Given the description of an element on the screen output the (x, y) to click on. 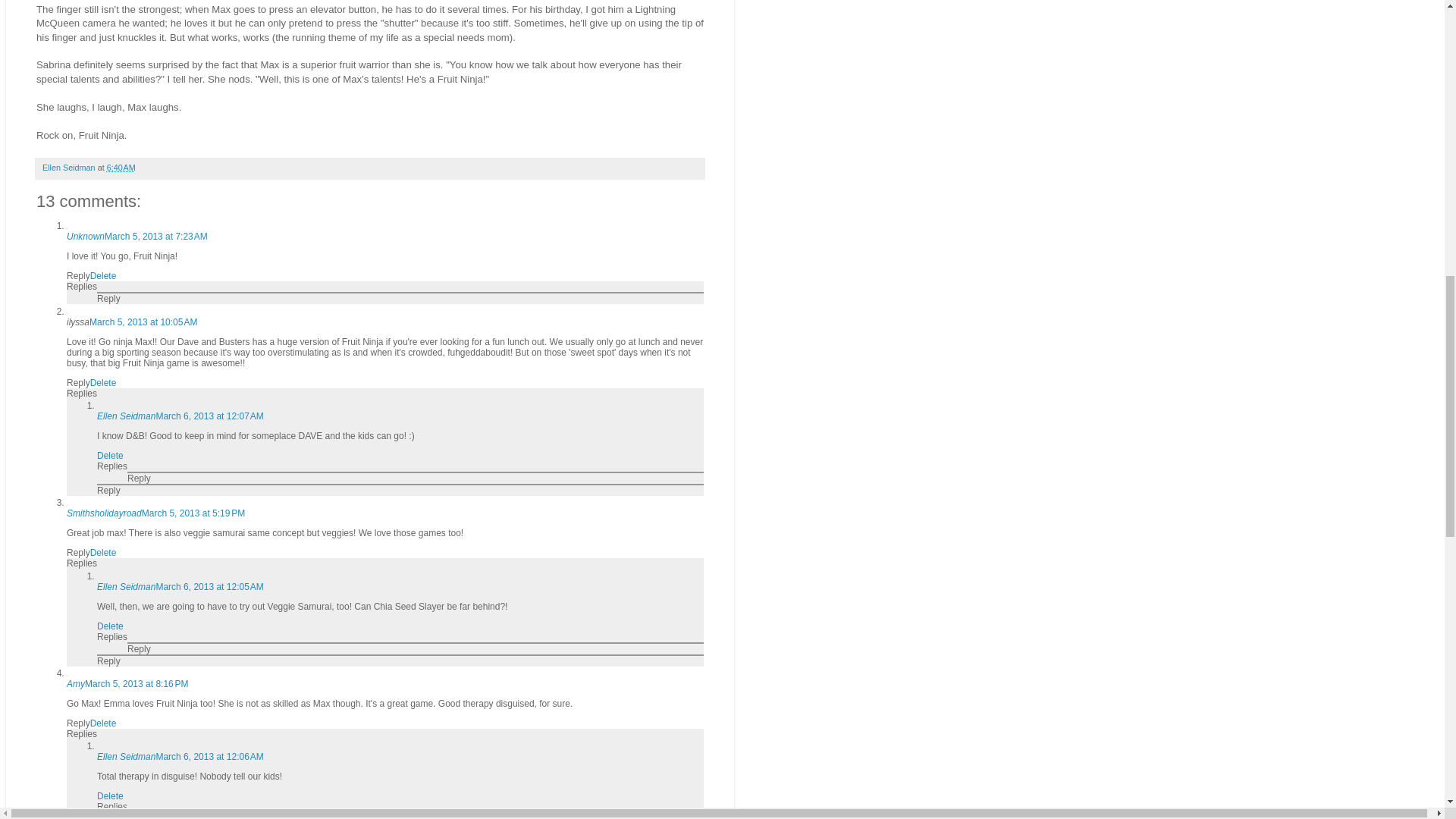
Ellen Seidman (126, 416)
Delete (103, 723)
Ellen Seidman (69, 166)
Reply (78, 552)
Replies (81, 286)
permanent link (120, 166)
Delete (103, 552)
Reply (78, 723)
Reply (108, 298)
Delete (103, 276)
